Given the description of an element on the screen output the (x, y) to click on. 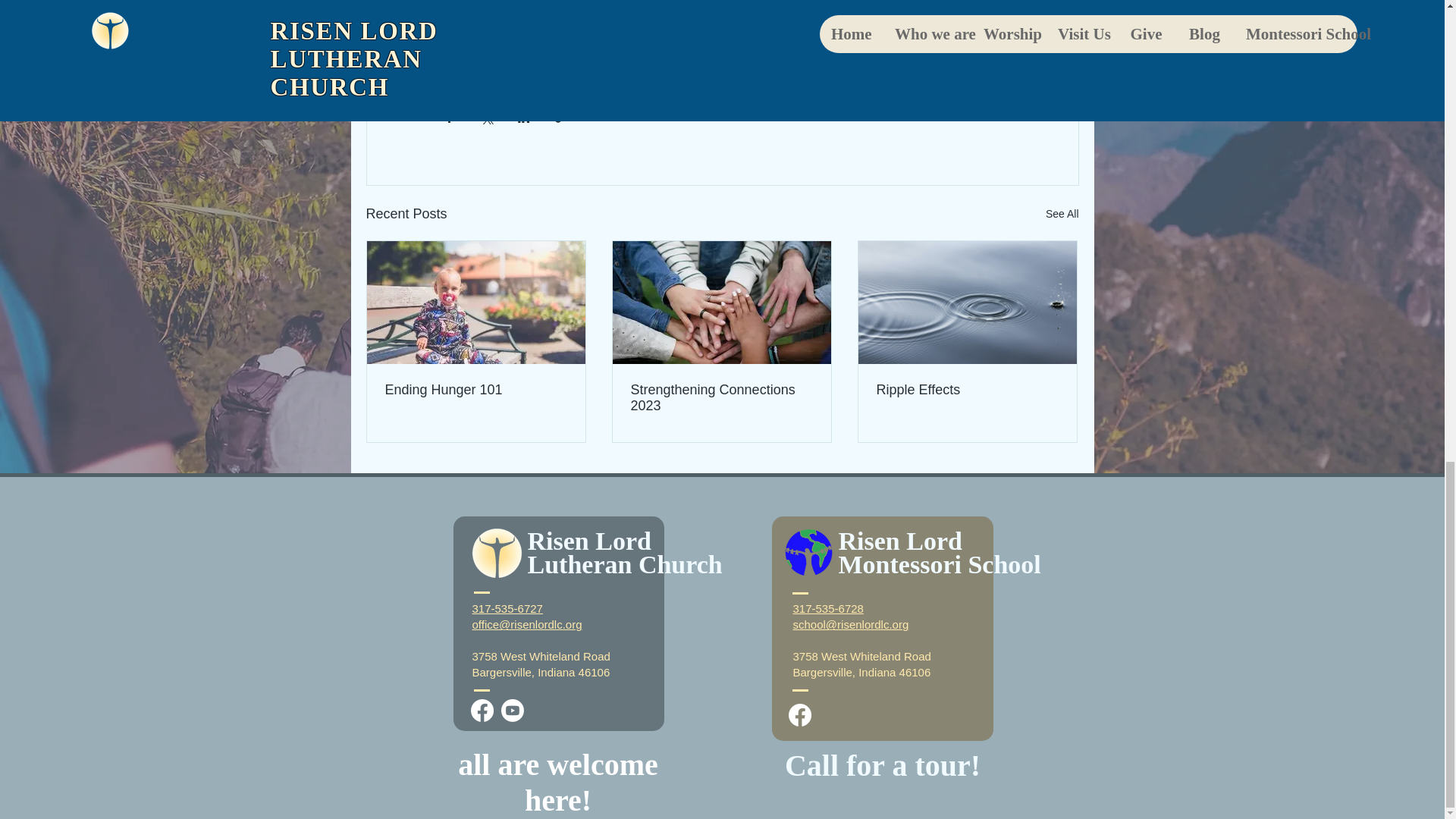
Ripple Effects (967, 390)
Strengthening Connections 2023 (721, 398)
Ending Hunger 101 (476, 390)
See All (1061, 214)
317-535-6728 (828, 608)
317-535-6727 (506, 608)
